Given the description of an element on the screen output the (x, y) to click on. 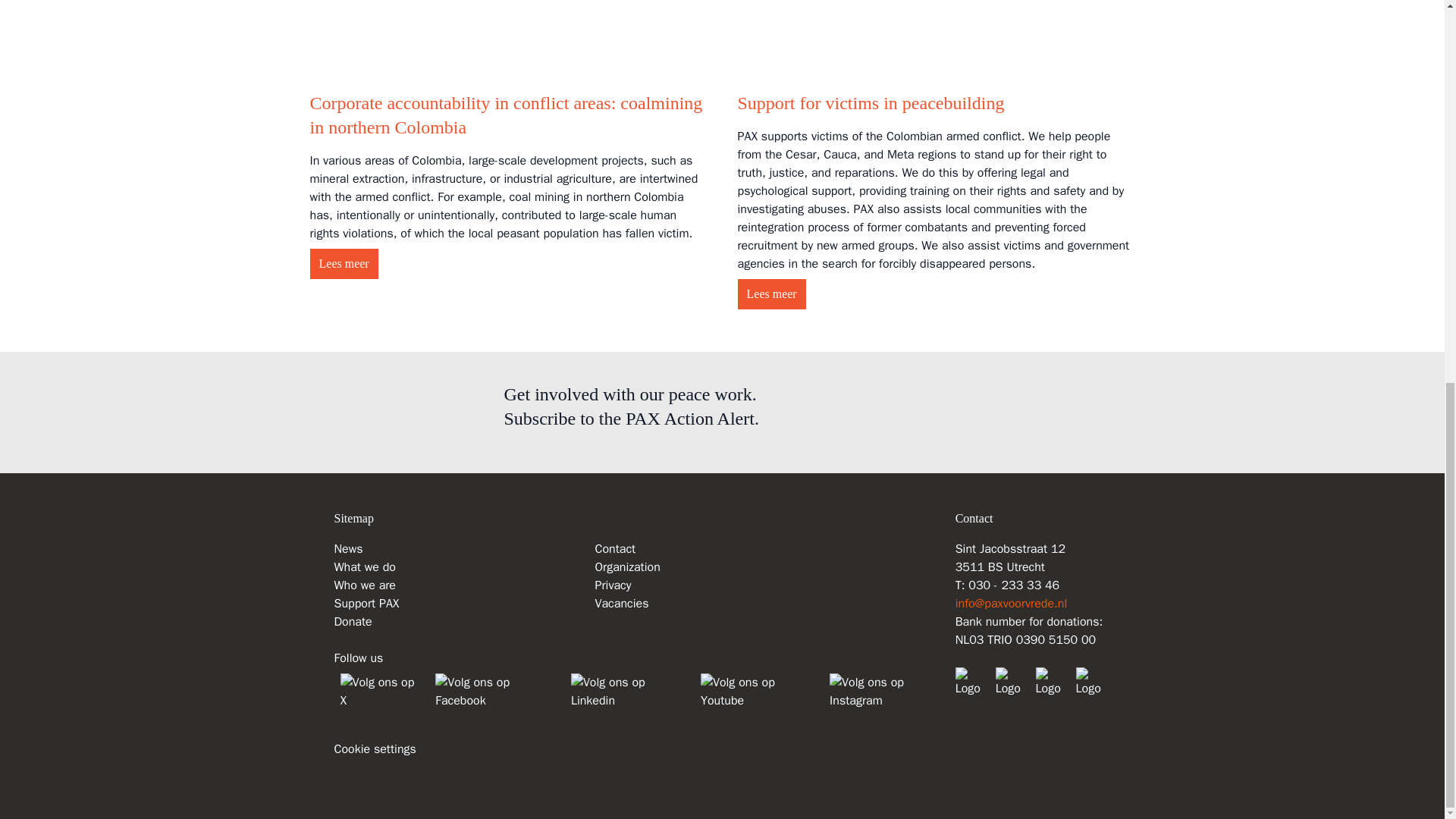
Privacy (612, 585)
Vacancies (620, 603)
Support PAX (365, 603)
Organization (626, 566)
Lees meer (770, 294)
Donate (352, 621)
Contact (614, 548)
News (347, 548)
Lees meer (342, 263)
